Given the description of an element on the screen output the (x, y) to click on. 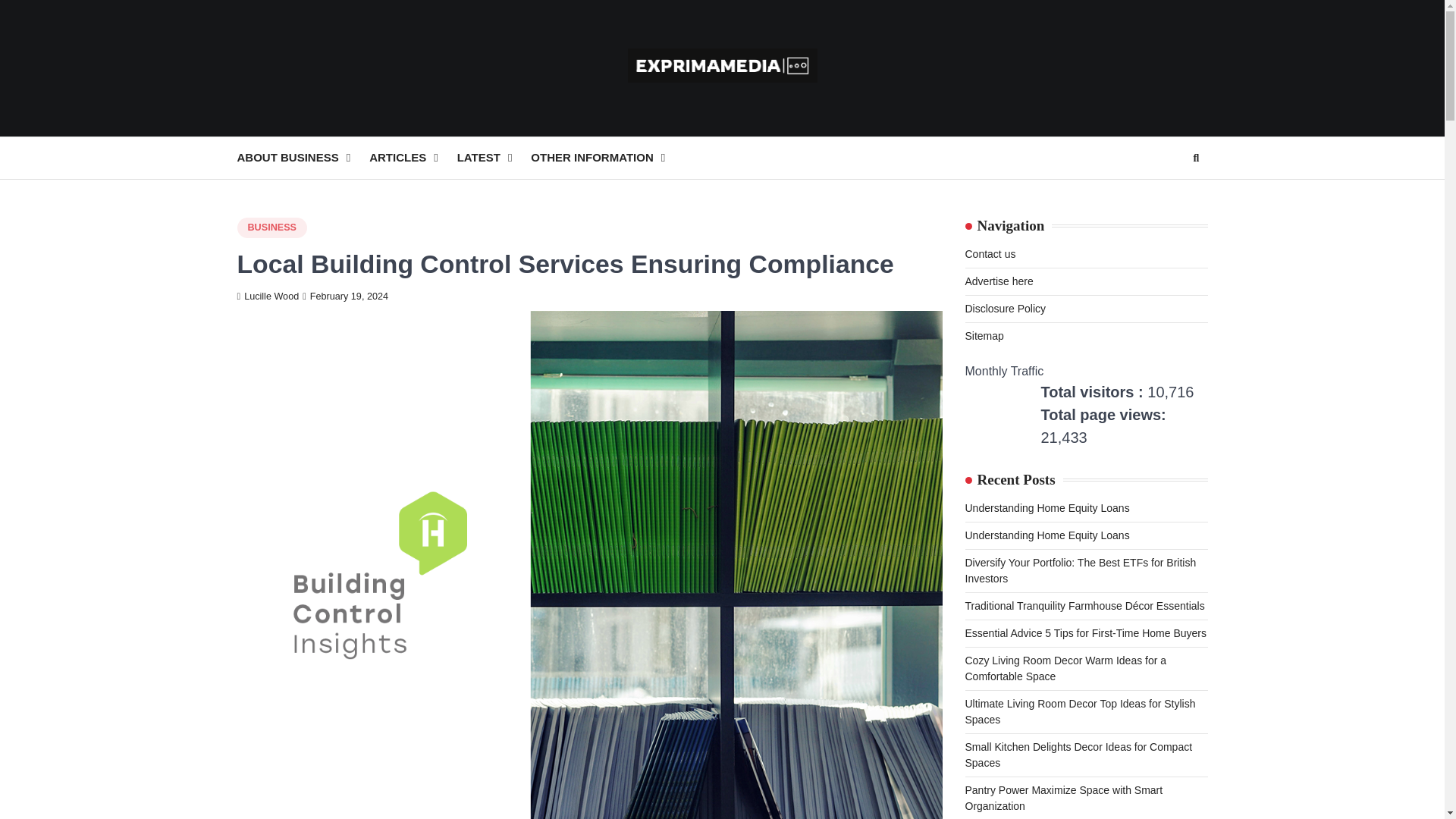
Search (1168, 194)
Lucille Wood (266, 296)
ARTICLES (413, 158)
February 19, 2024 (345, 296)
OTHER INFORMATION (607, 158)
Search (1196, 158)
LATEST (494, 158)
ABOUT BUSINESS (302, 158)
BUSINESS (271, 227)
